Given the description of an element on the screen output the (x, y) to click on. 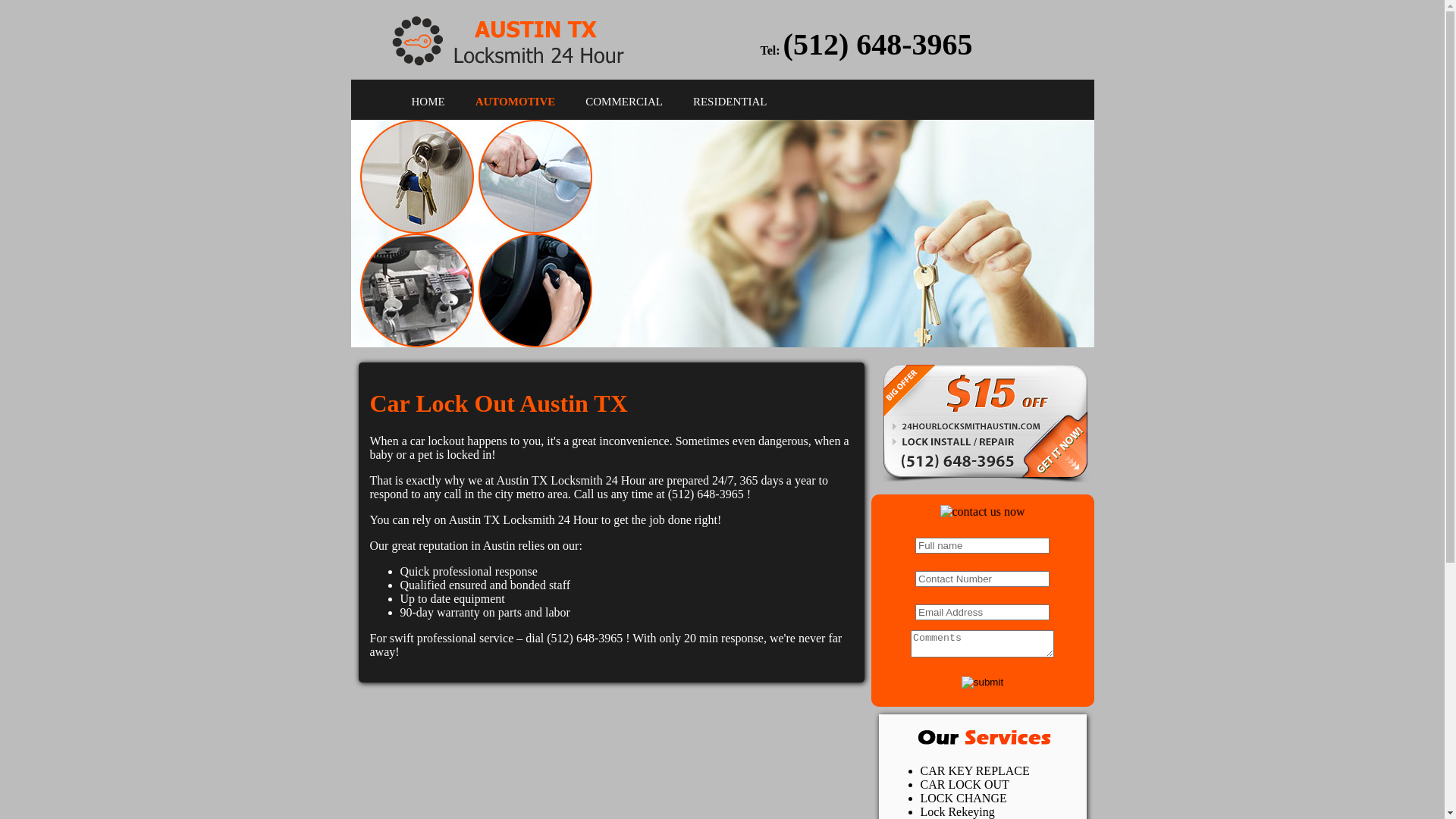
COMMERCIAL Element type: text (623, 101)
RESIDENTIAL Element type: text (730, 101)
Lock Rekeying Element type: text (957, 811)
(512) 648-3965 Element type: text (877, 44)
CAR KEY REPLACE Element type: text (974, 770)
AUTOMOTIVE Element type: text (515, 101)
CAR LOCK OUT Element type: text (964, 784)
LOCK CHANGE Element type: text (963, 797)
HOME Element type: text (427, 101)
